Given the description of an element on the screen output the (x, y) to click on. 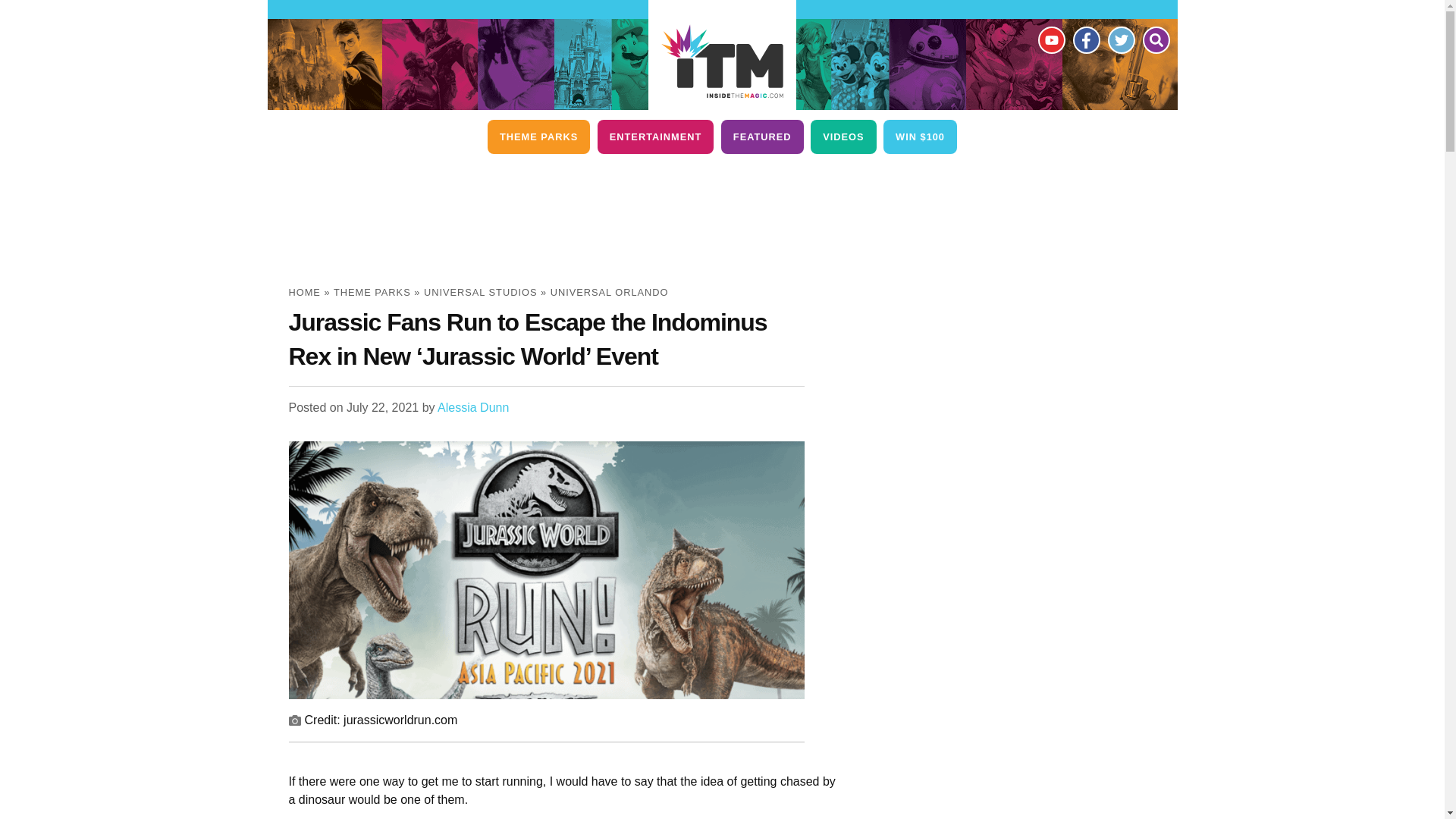
Search (1155, 40)
Facebook (1085, 40)
Twitter (1120, 40)
THEME PARKS (538, 136)
YouTube (1050, 40)
FEATURED (761, 136)
ENTERTAINMENT (655, 136)
